Given the description of an element on the screen output the (x, y) to click on. 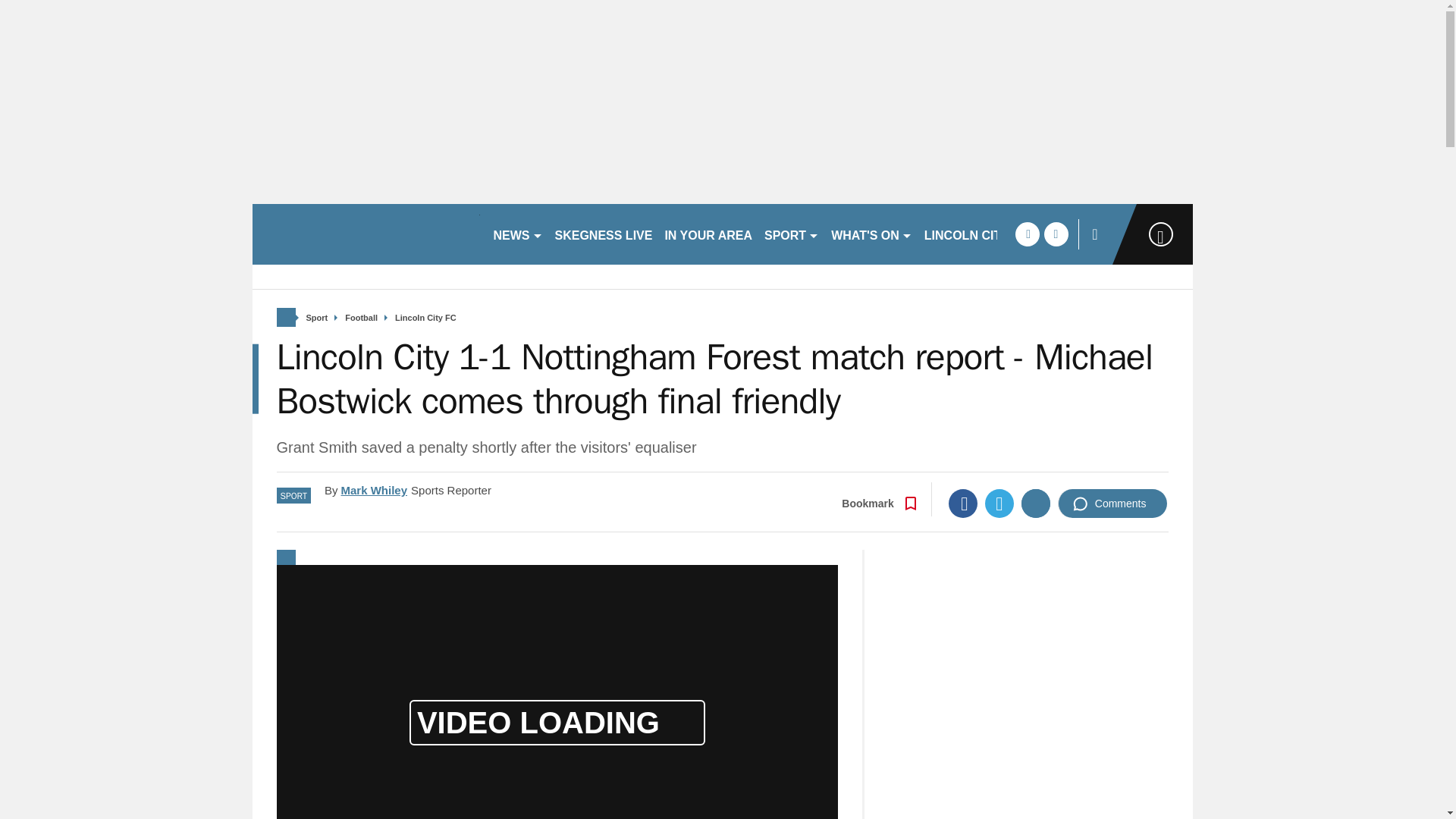
SKEGNESS LIVE (603, 233)
WHAT'S ON (871, 233)
LINCOLN CITY FC (975, 233)
Twitter (999, 502)
facebook (1026, 233)
twitter (1055, 233)
NEWS (517, 233)
Comments (1112, 502)
lincolnshirelive (365, 233)
Facebook (962, 502)
